Given the description of an element on the screen output the (x, y) to click on. 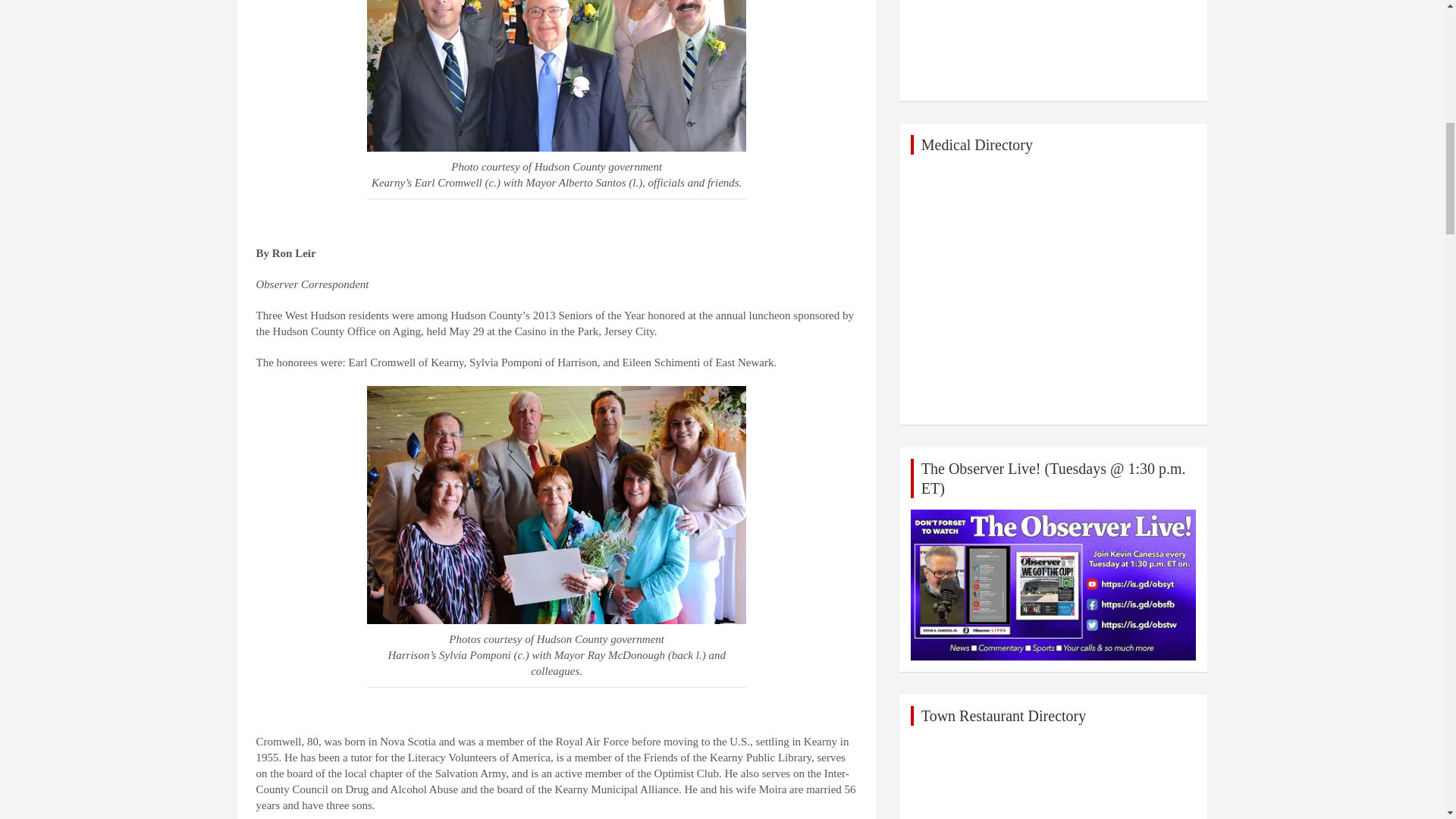
The Observer Live! (1053, 584)
